Given the description of an element on the screen output the (x, y) to click on. 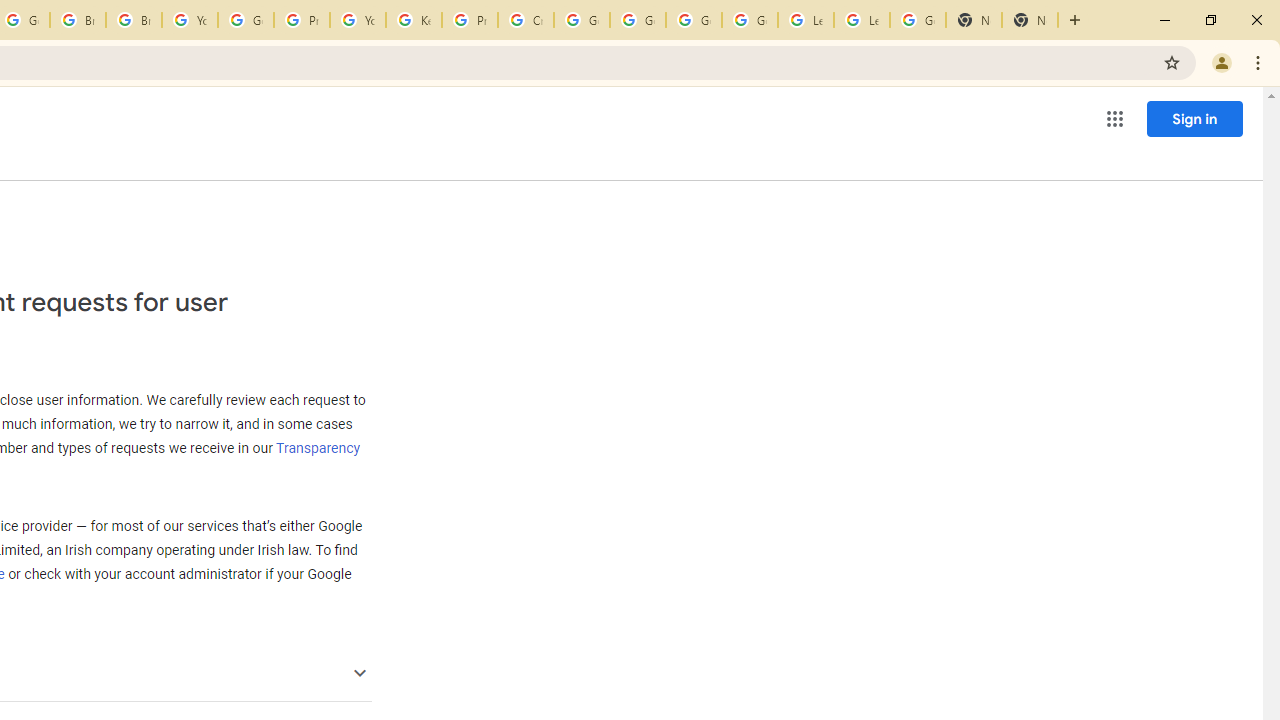
New Tab (1030, 20)
Google Account Help (749, 20)
YouTube (358, 20)
Google Account Help (582, 20)
Google Account Help (693, 20)
New Tab (973, 20)
Create your Google Account (525, 20)
